Given the description of an element on the screen output the (x, y) to click on. 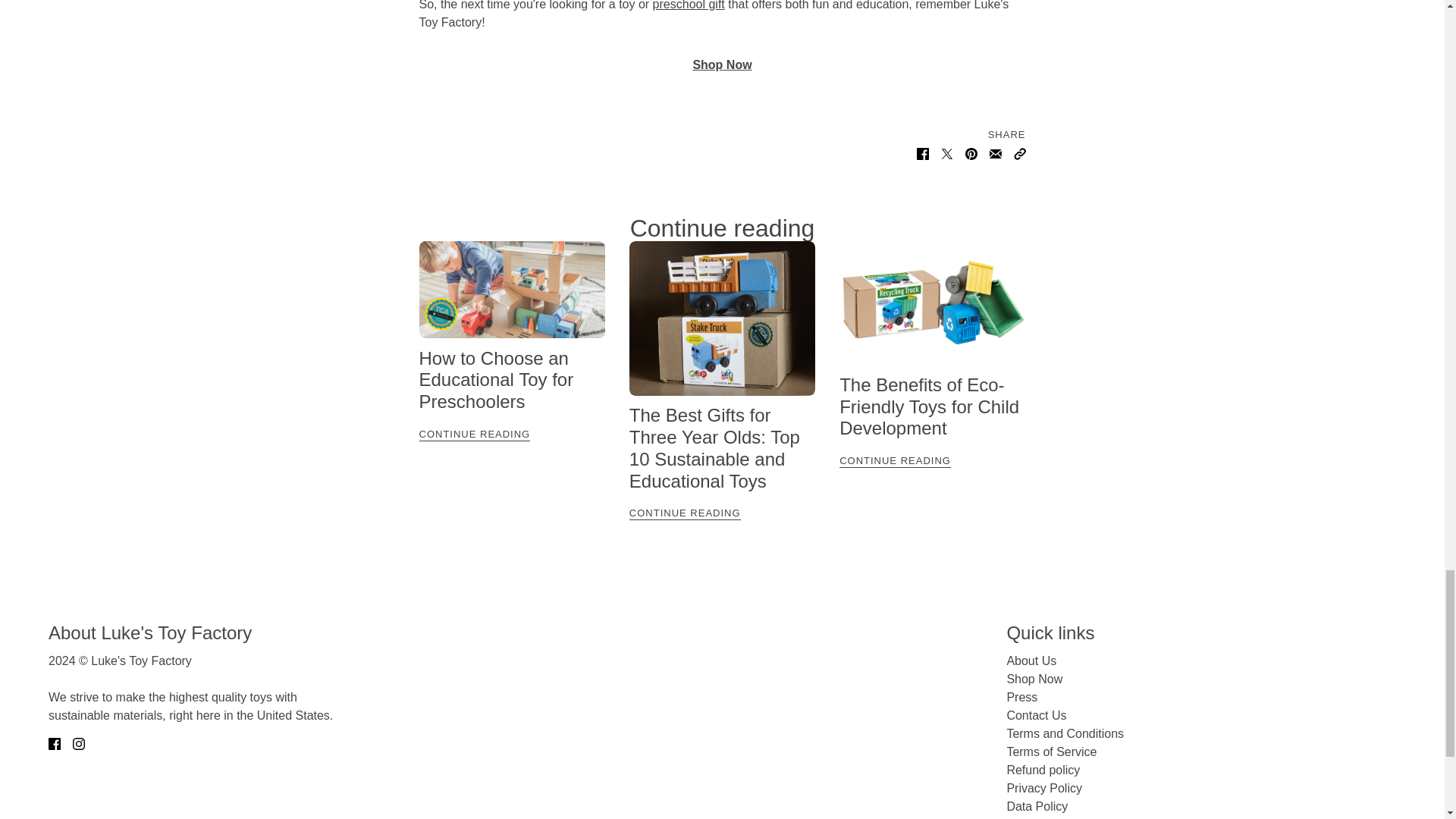
CONTINUE READING (511, 434)
Privacy Policy (1043, 788)
About Us (1031, 660)
Press (1021, 697)
Terms and Conditions (1065, 733)
Refund policy (1043, 769)
Shop Now (1034, 678)
preschool gift (688, 5)
Data Policy (1036, 806)
Shop Now (722, 64)
Contact Us (1035, 715)
How to Choose an Educational Toy for Preschoolers (496, 380)
CONTINUE READING (932, 460)
The Benefits of Eco-Friendly Toys for Child Development (929, 406)
